Given the description of an element on the screen output the (x, y) to click on. 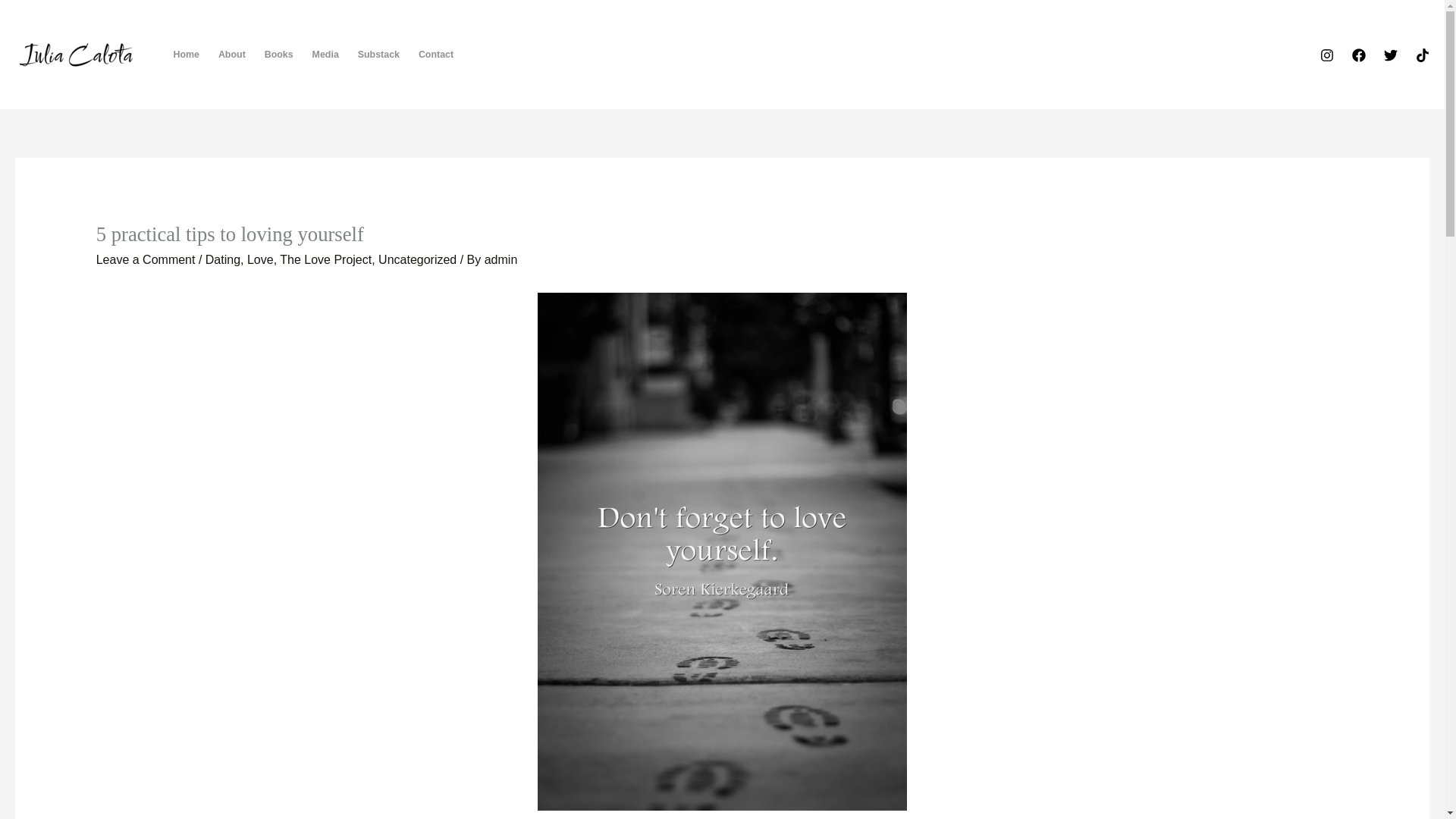
Books (278, 54)
View all posts by admin (501, 259)
The Love Project (325, 259)
Contact (436, 54)
Uncategorized (417, 259)
Love (260, 259)
Substack (378, 54)
Leave a Comment (145, 259)
Dating (222, 259)
admin (501, 259)
